Given the description of an element on the screen output the (x, y) to click on. 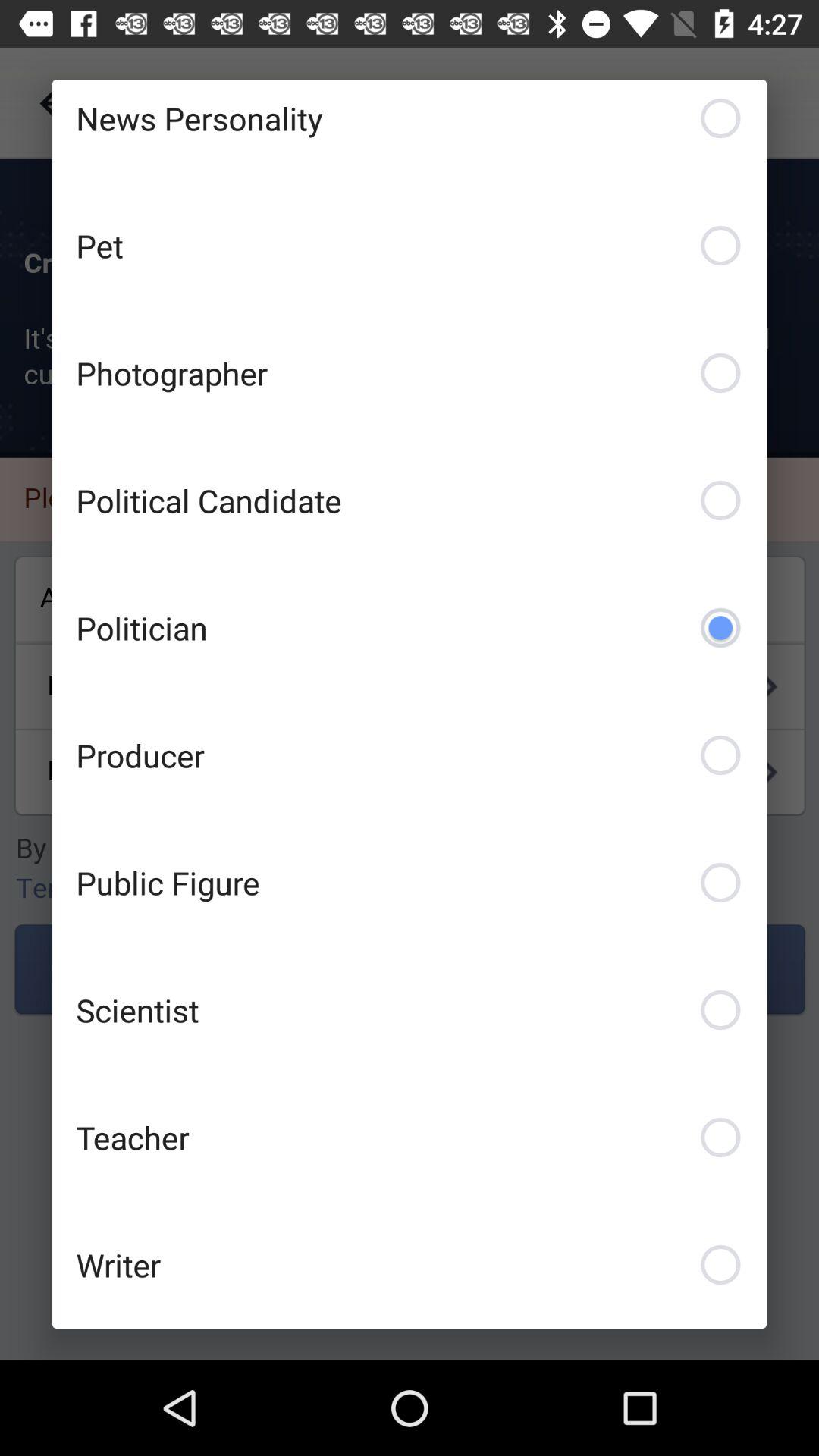
flip until politician (409, 627)
